Given the description of an element on the screen output the (x, y) to click on. 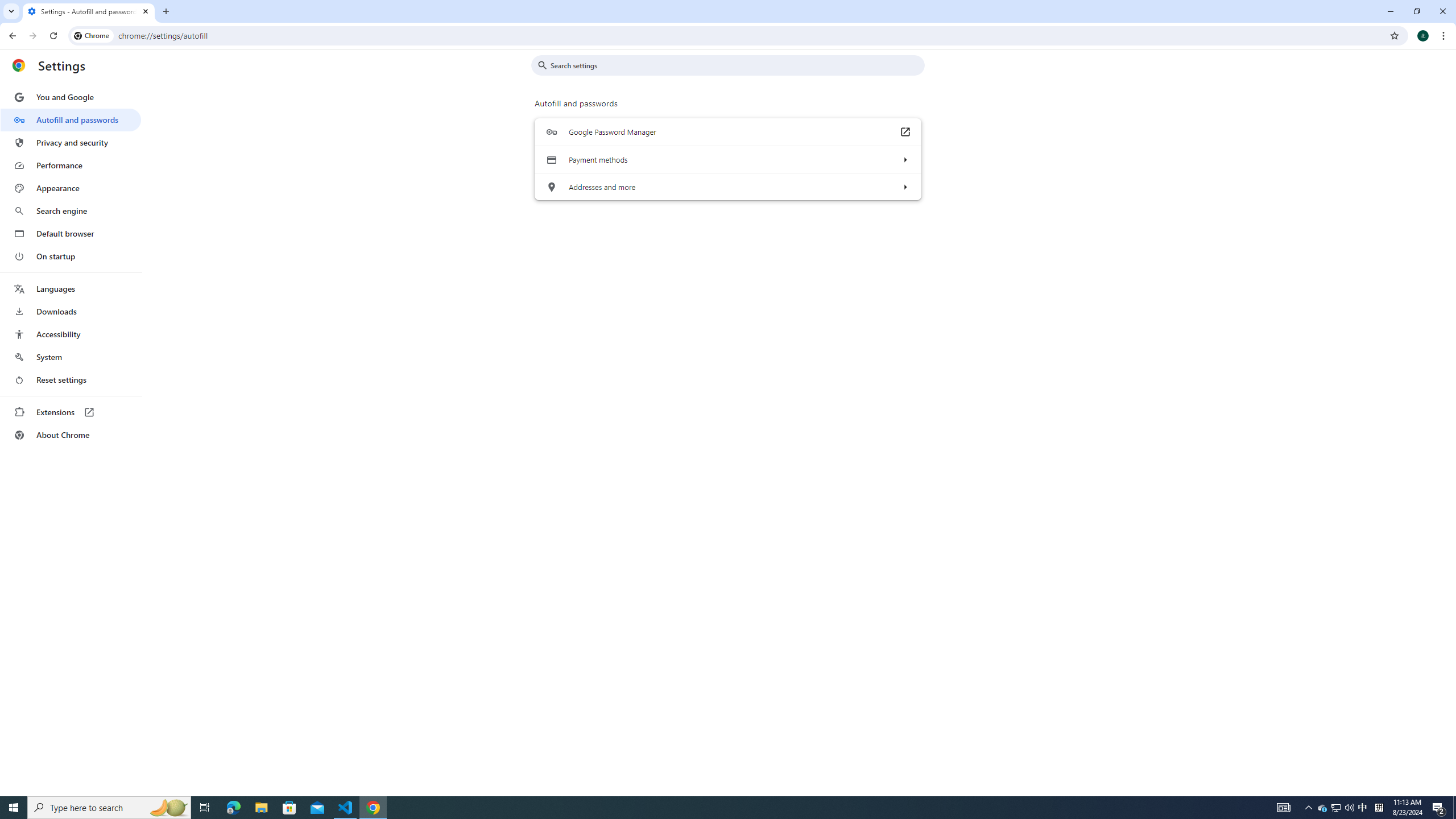
Appearance (70, 187)
Accessibility (70, 333)
About Chrome (70, 434)
Downloads (70, 311)
You and Google (70, 96)
Reset settings (70, 379)
On startup (70, 255)
